Given the description of an element on the screen output the (x, y) to click on. 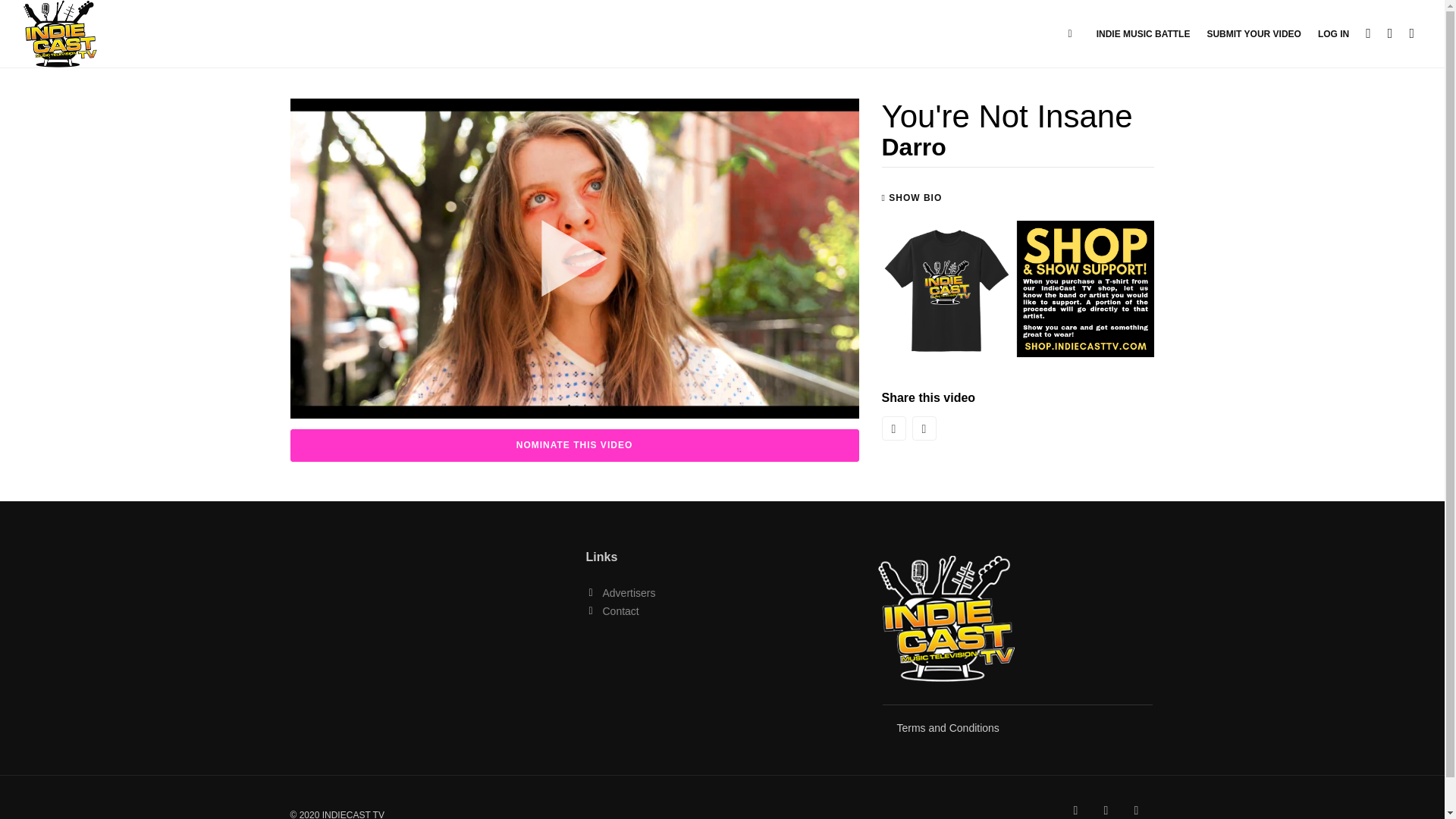
NOMINATE THIS VIDEO (574, 445)
Terms and Conditions (947, 727)
Contact (620, 611)
LOG IN (1333, 33)
SHOW BIO (911, 197)
SUBMIT YOUR VIDEO (1252, 33)
INDIE MUSIC BATTLE (1143, 33)
Advertisers (628, 592)
